Given the description of an element on the screen output the (x, y) to click on. 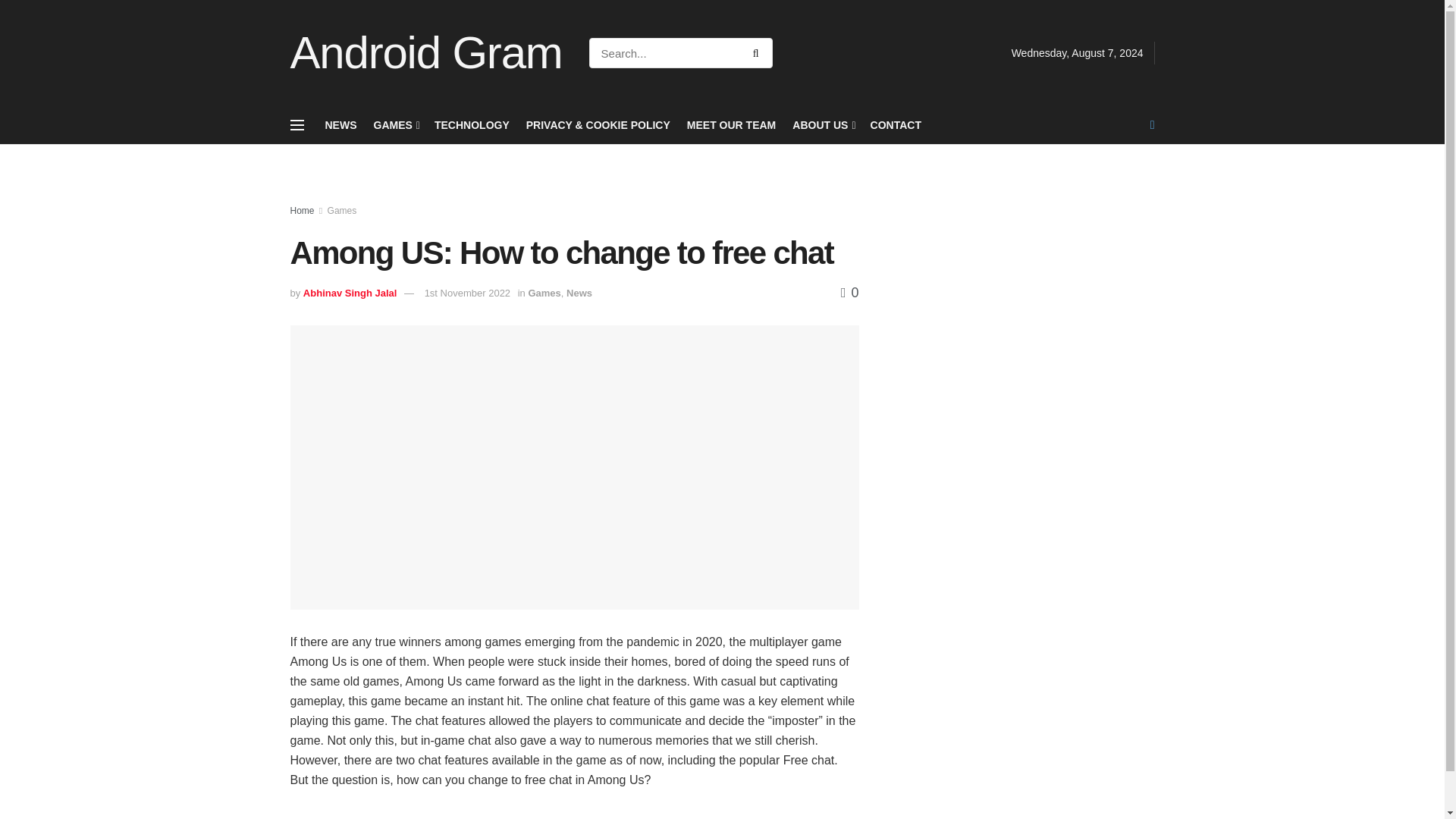
Games (341, 210)
TECHNOLOGY (471, 125)
Home (301, 210)
News (579, 292)
MEET OUR TEAM (731, 125)
Abhinav Singh Jalal (349, 292)
Games (543, 292)
0 (850, 292)
Android Gram (425, 53)
GAMES (394, 125)
